Given the description of an element on the screen output the (x, y) to click on. 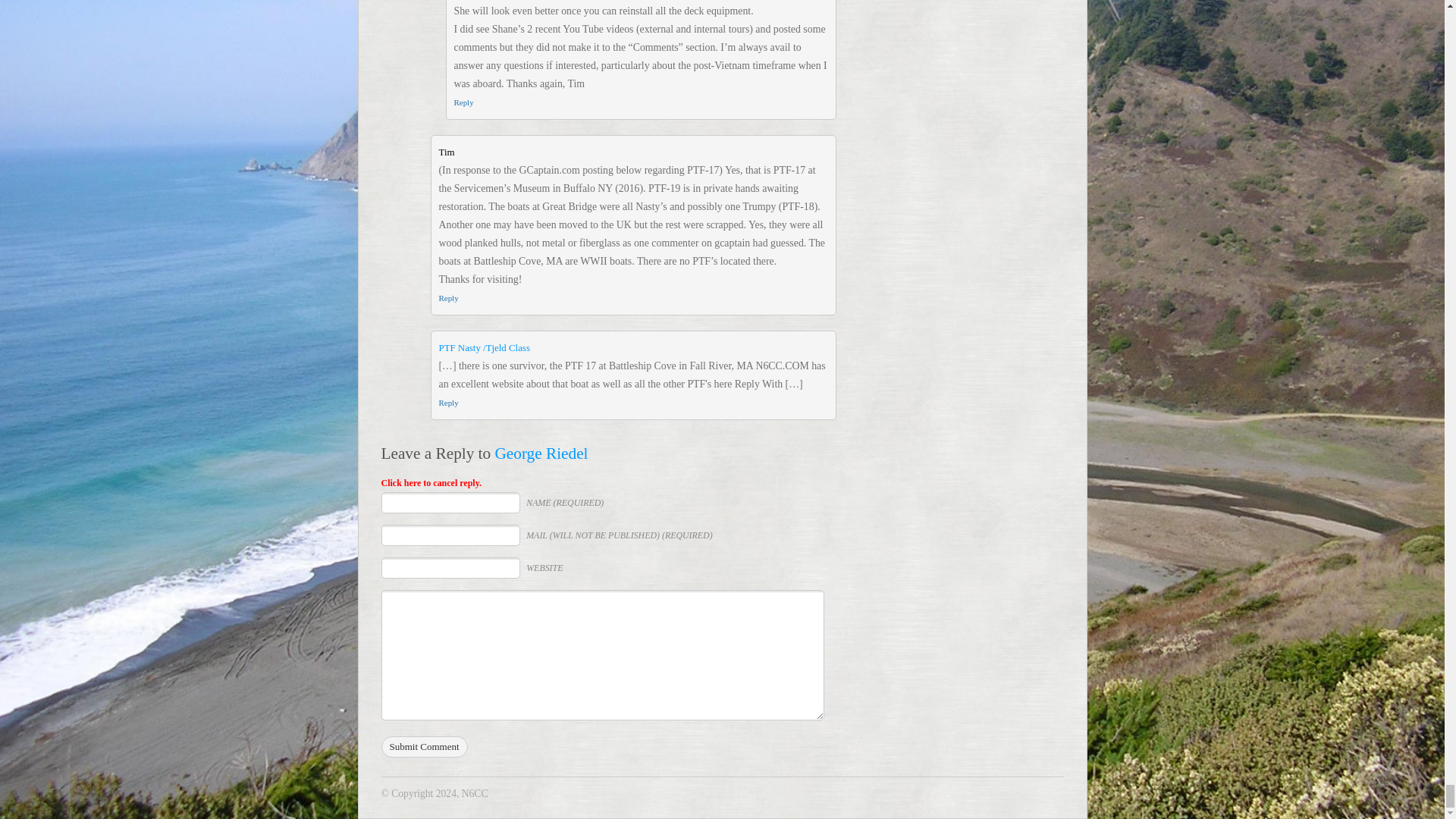
Submit Comment (423, 746)
